Given the description of an element on the screen output the (x, y) to click on. 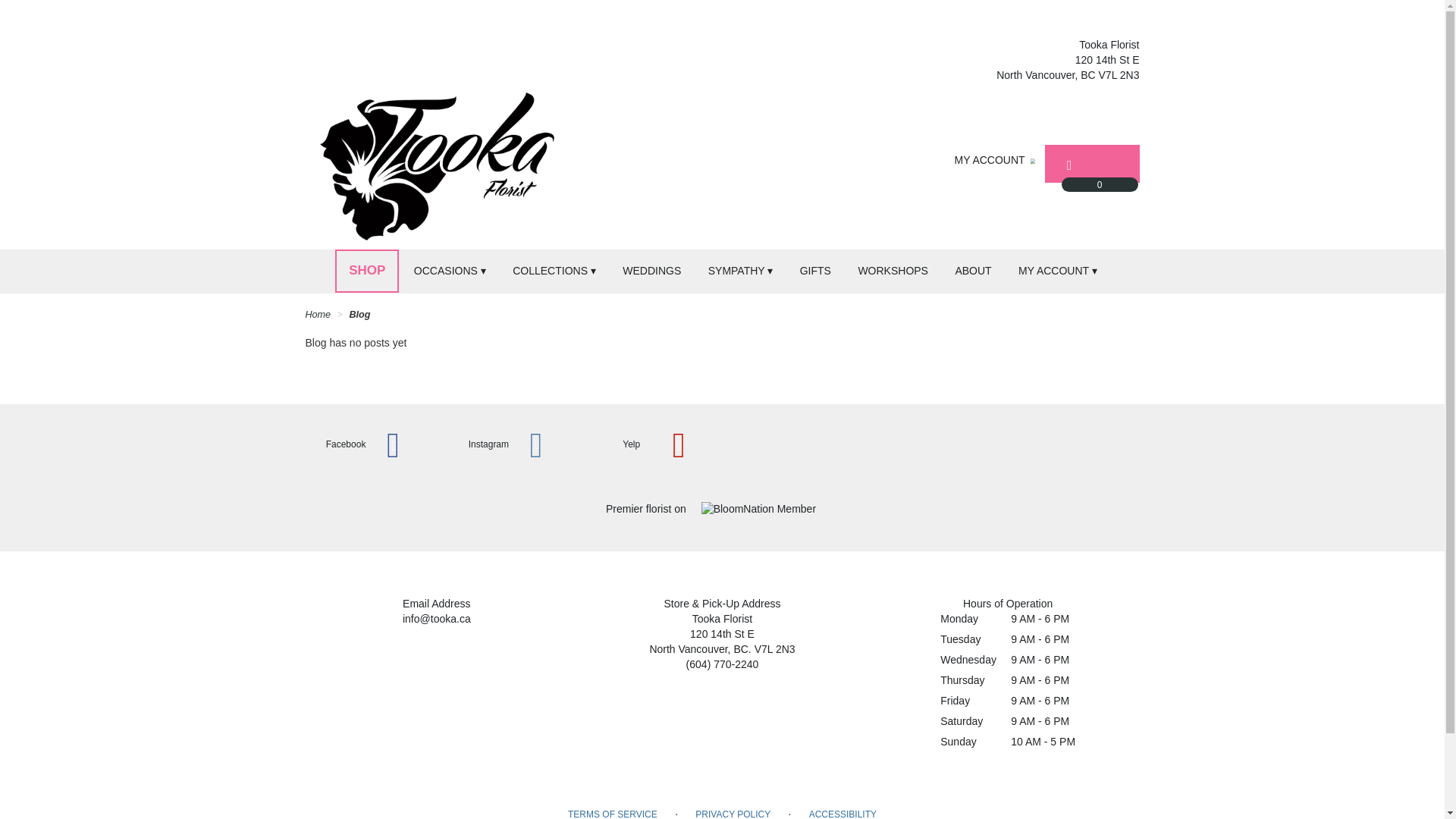
Go to Home Page (317, 314)
MY ACCOUNT (995, 160)
